Given the description of an element on the screen output the (x, y) to click on. 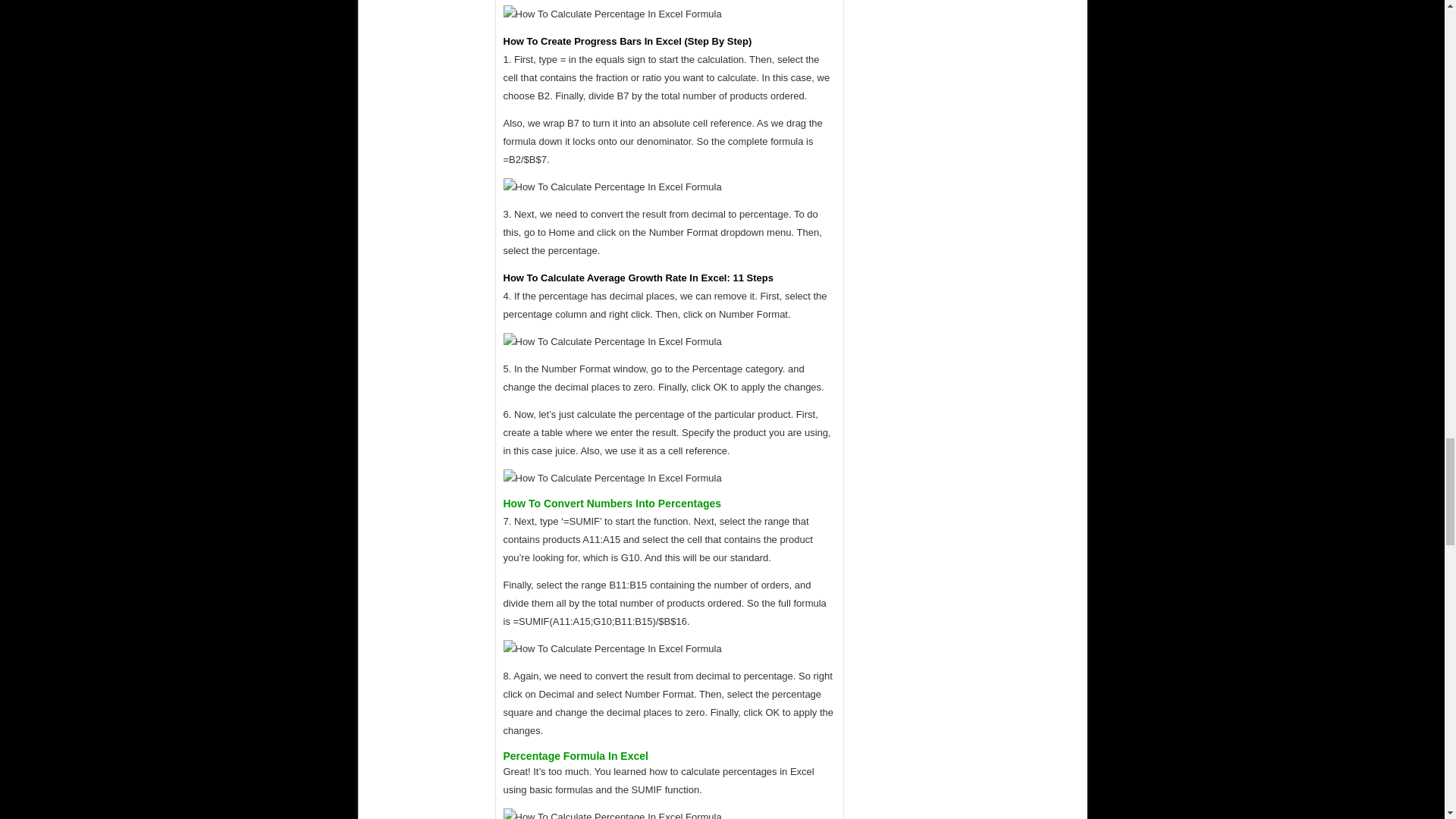
How To Calculate Percentage In Excel Formula (612, 187)
How To Calculate Percentage In Excel Formula (612, 478)
How To Calculate Percentage In Excel Formula (612, 13)
How To Calculate Percentage In Excel Formula (612, 341)
